Given the description of an element on the screen output the (x, y) to click on. 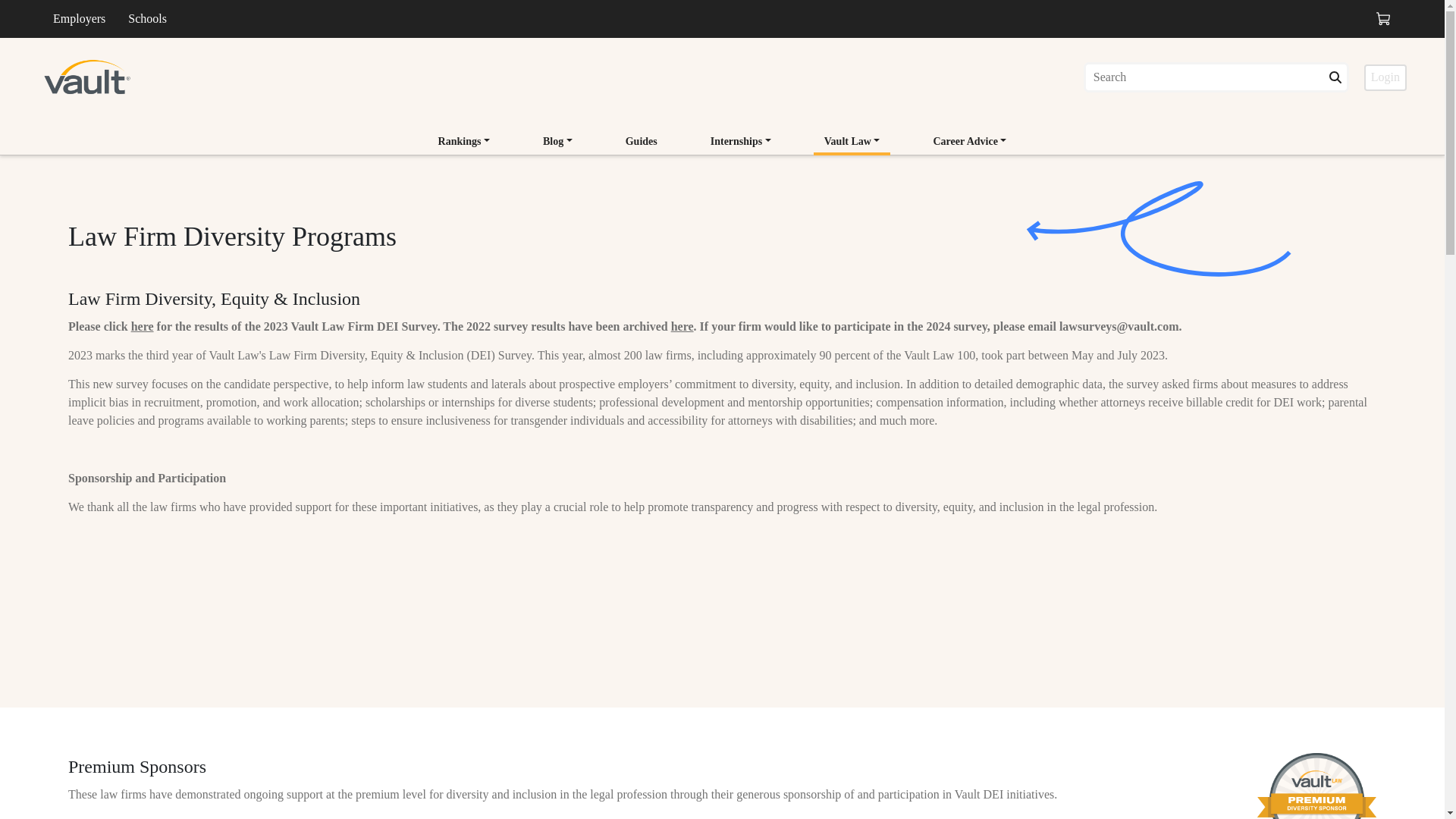
3rd party ad content (722, 627)
Guides (641, 141)
Blog (557, 141)
Internships (740, 141)
Guides (641, 142)
Login (1385, 76)
Rankings (464, 142)
here (142, 326)
Blog (557, 142)
Vault Law (852, 142)
Rankings (464, 141)
Internships (740, 142)
Career Advice (968, 141)
Career Advice (968, 142)
Employers (78, 18)
